Given the description of an element on the screen output the (x, y) to click on. 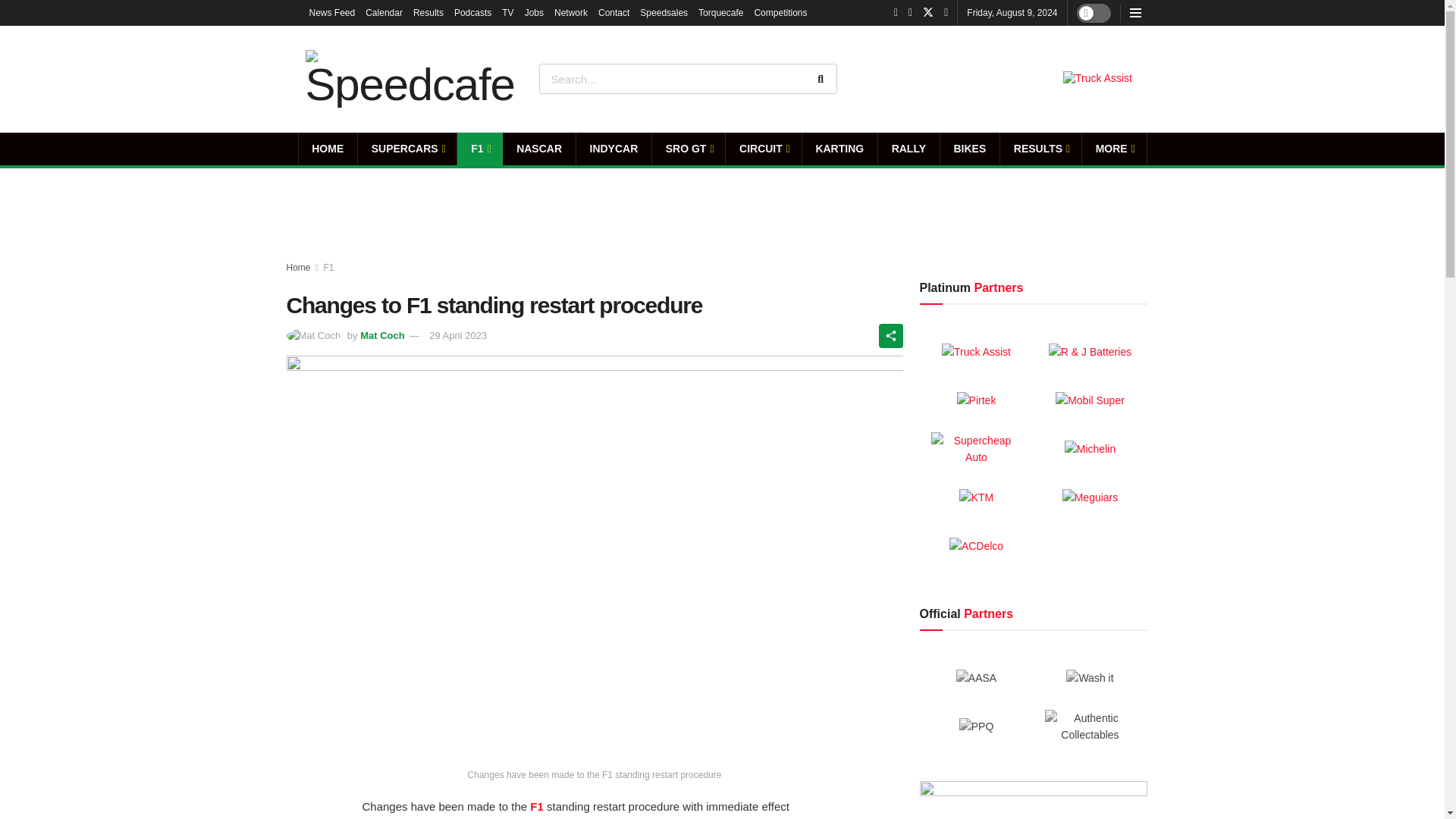
Results (428, 12)
Contact (613, 12)
News Feed (331, 12)
Truck Assist (1097, 78)
Calendar (384, 12)
HOME (327, 148)
SUPERCARS (407, 148)
Network (571, 12)
Podcasts (473, 12)
Competitions (780, 12)
